Given the description of an element on the screen output the (x, y) to click on. 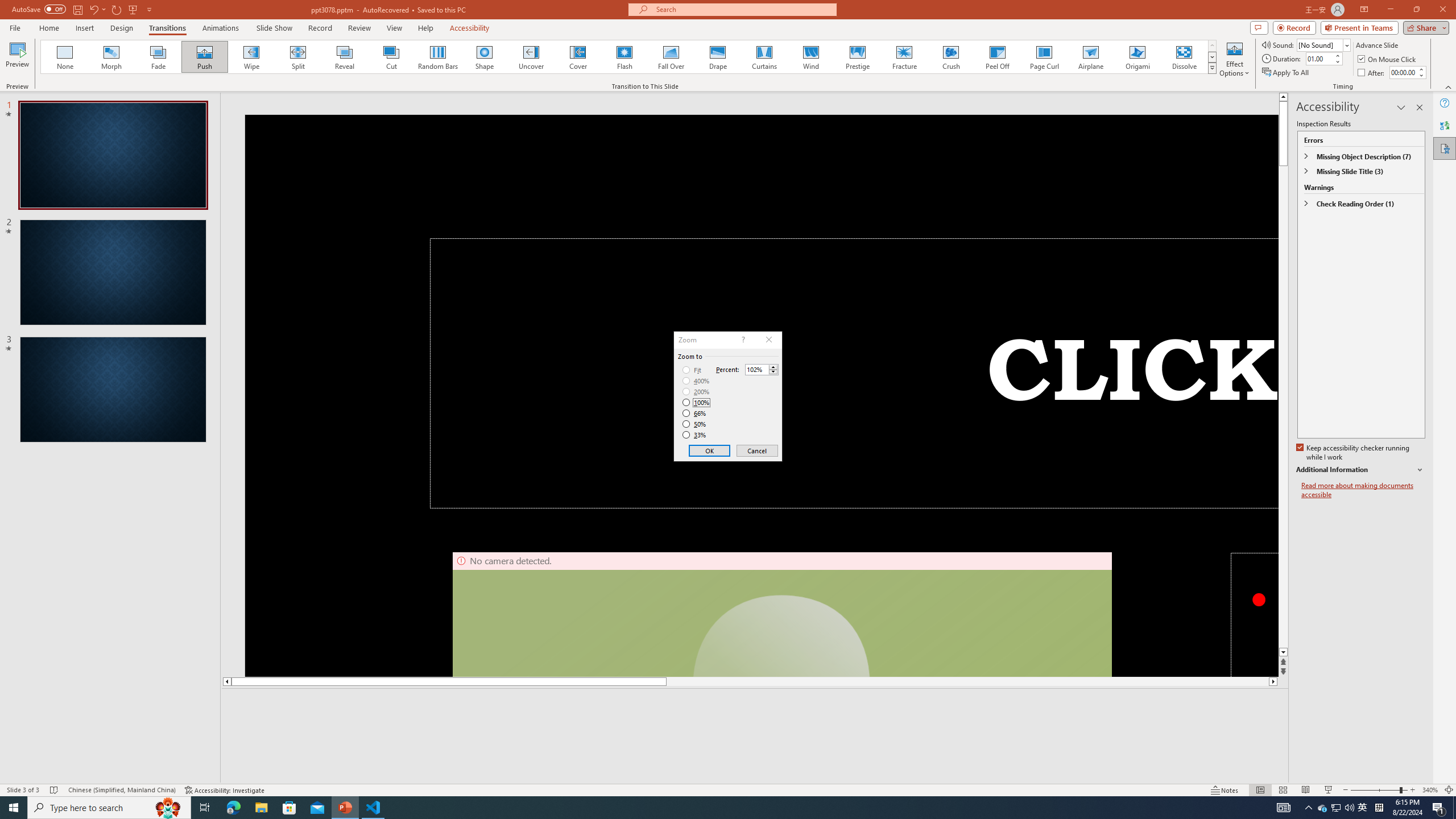
OK (709, 450)
Shape (484, 56)
Page down (1283, 406)
Translator (1444, 125)
Slide Notes (755, 705)
Fall Over (670, 56)
